Given the description of an element on the screen output the (x, y) to click on. 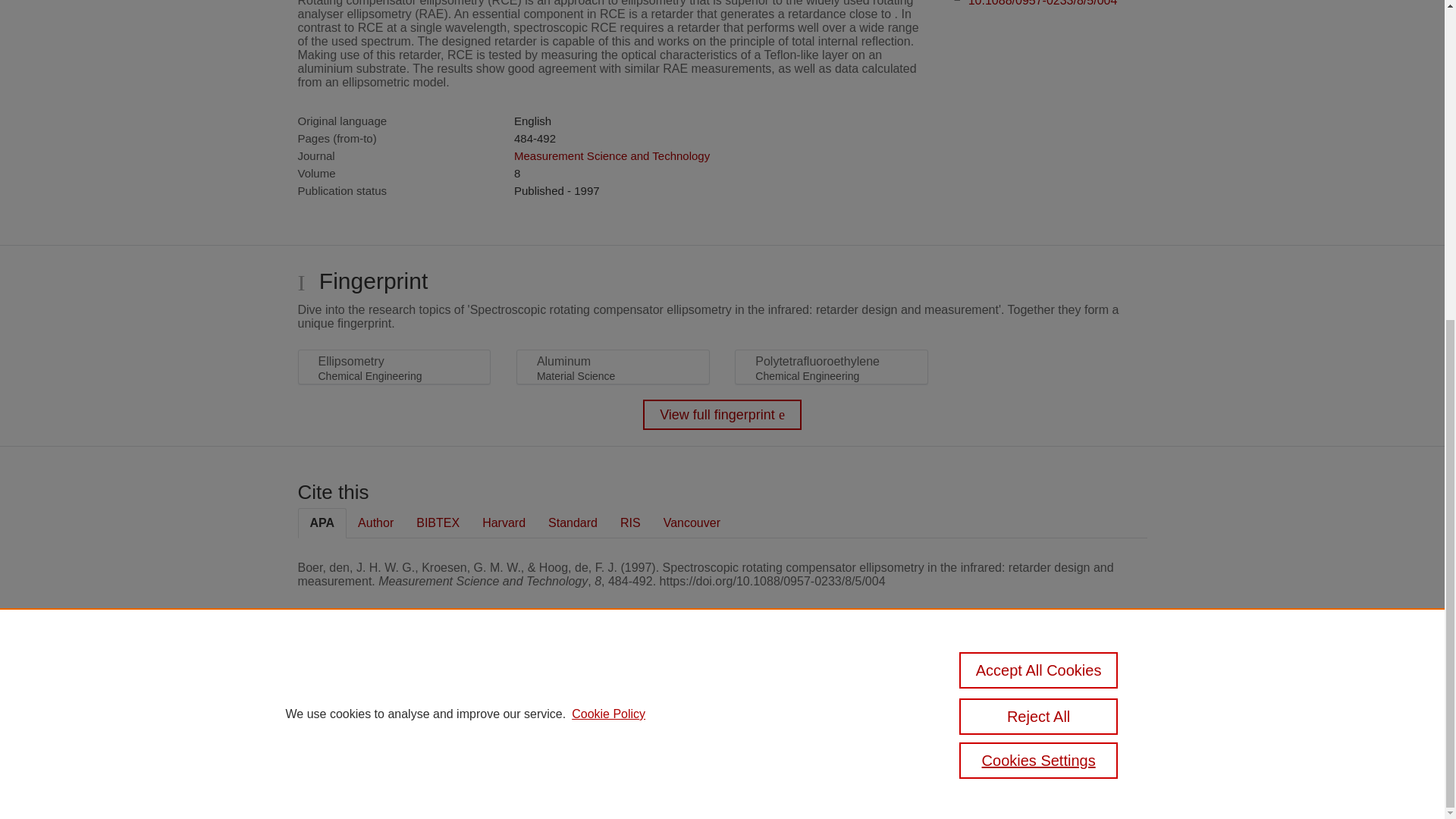
View full fingerprint (722, 414)
Pure (362, 686)
Measurement Science and Technology (611, 155)
Scopus (394, 686)
Elsevier B.V. (506, 707)
